Given the description of an element on the screen output the (x, y) to click on. 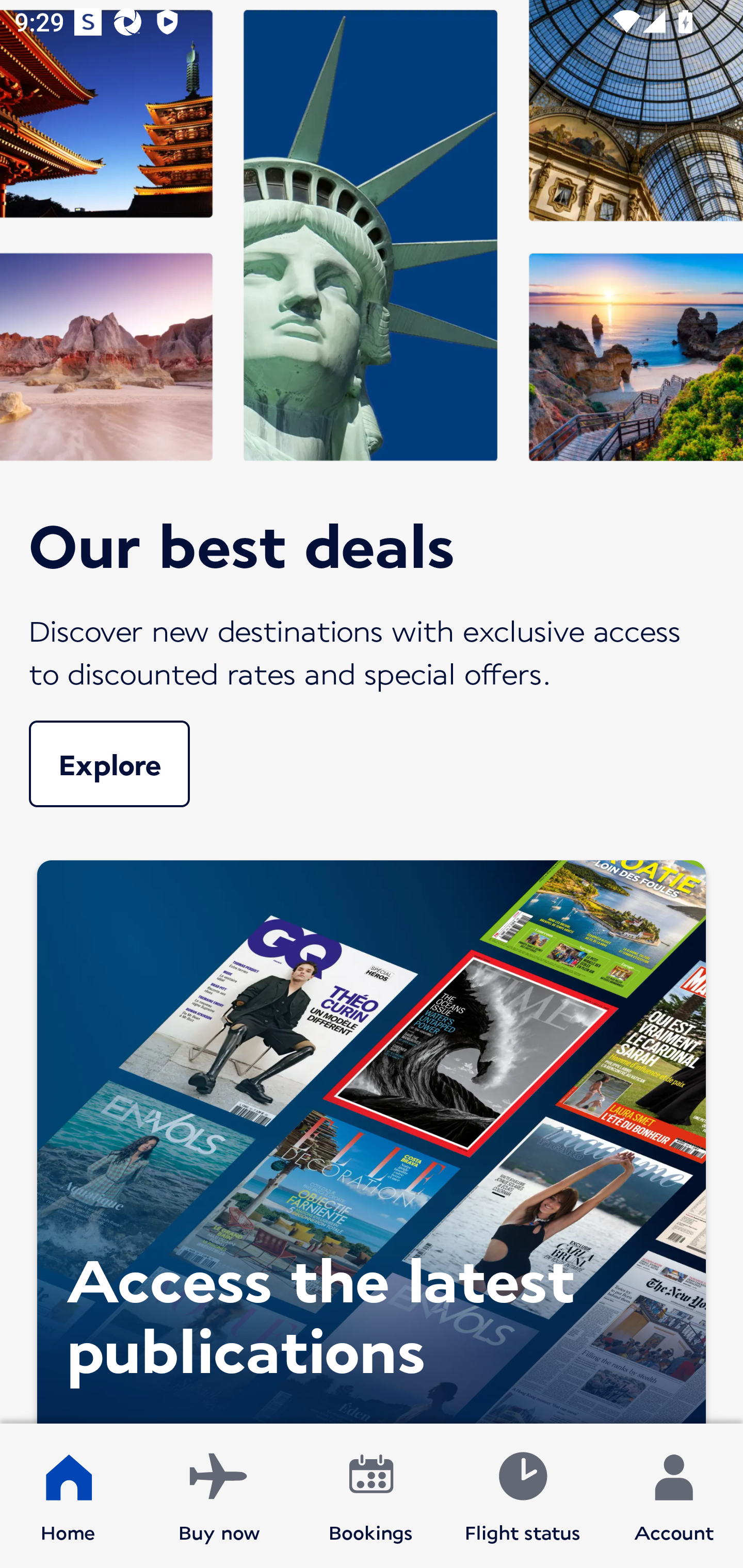
Buy now (219, 1495)
Bookings (370, 1495)
Flight status (522, 1495)
Account (674, 1495)
